Given the description of an element on the screen output the (x, y) to click on. 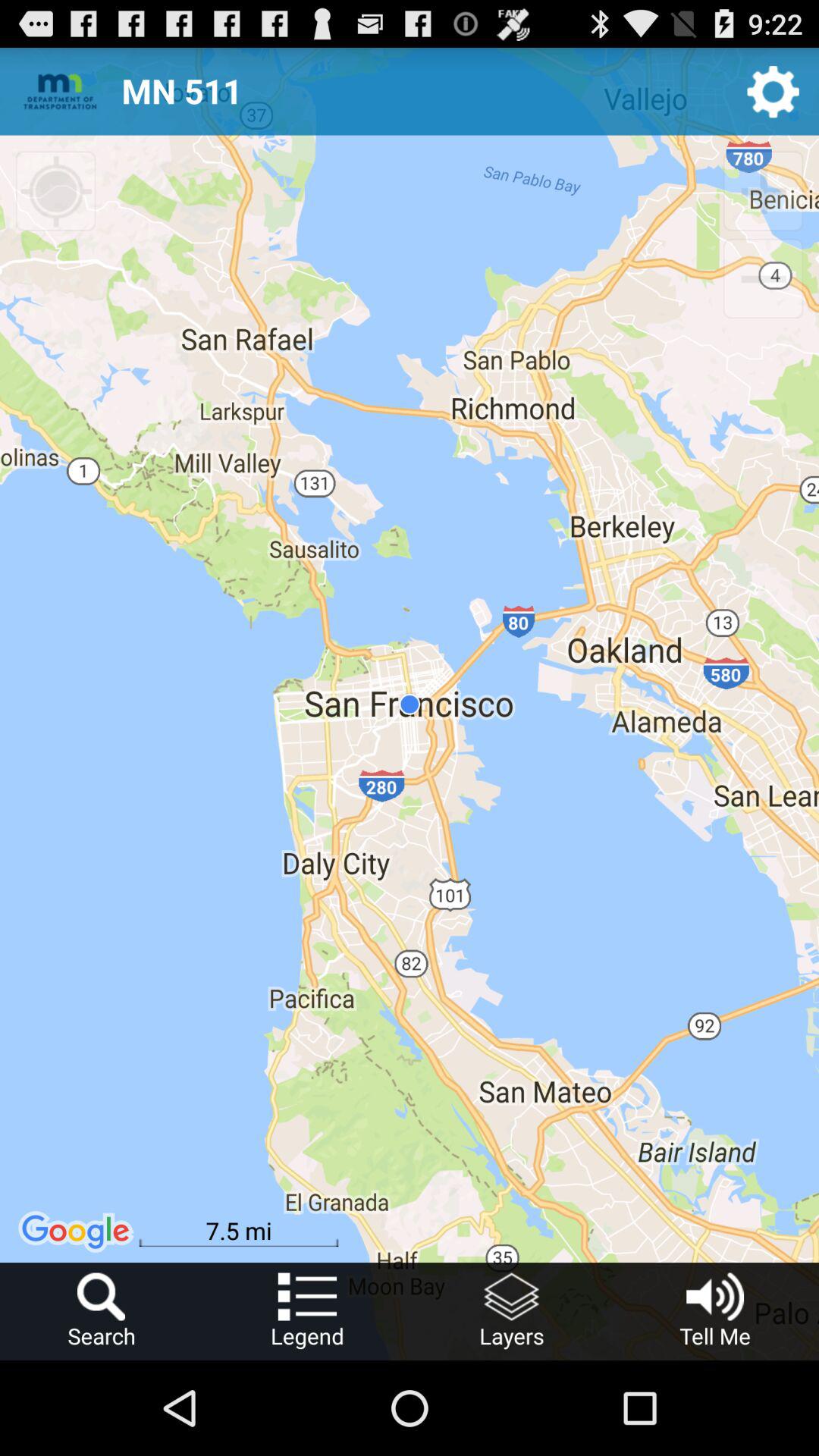
click the item next to mn 511 (773, 91)
